Given the description of an element on the screen output the (x, y) to click on. 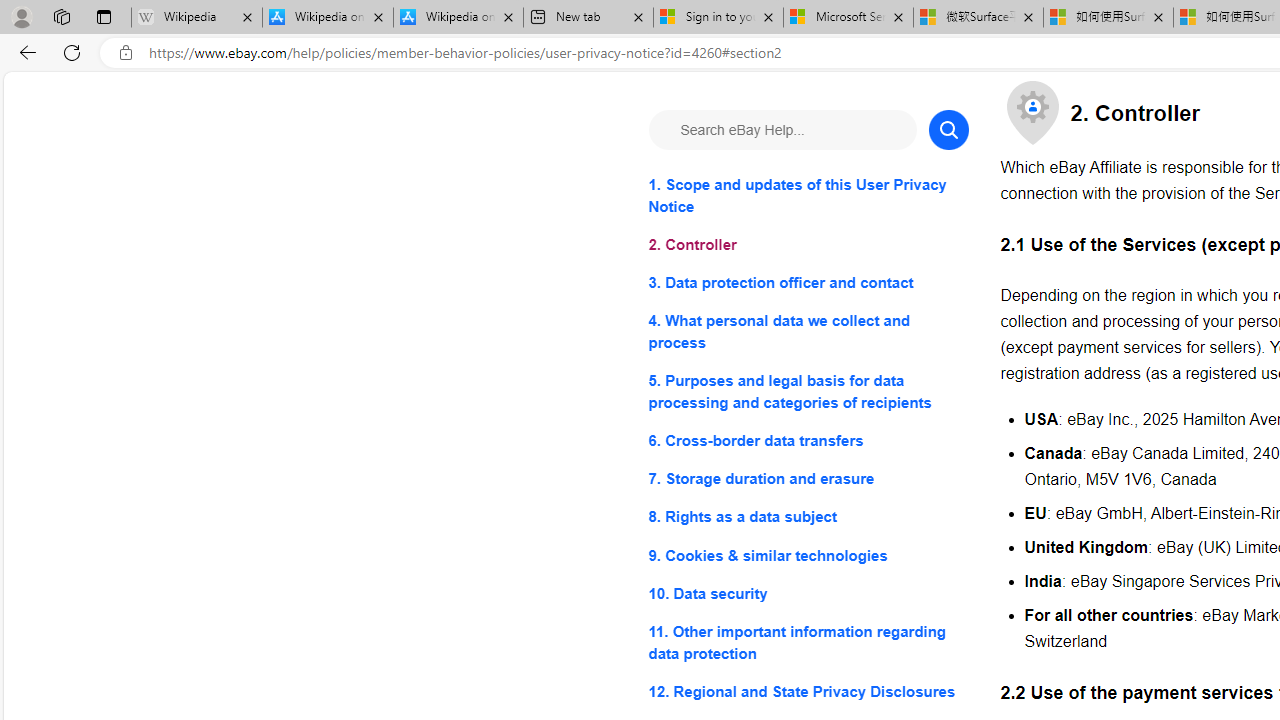
7. Storage duration and erasure (807, 479)
6. Cross-border data transfers (807, 440)
3. Data protection officer and contact (807, 283)
1. Scope and updates of this User Privacy Notice (807, 196)
6. Cross-border data transfers (807, 440)
10. Data security (807, 592)
4. What personal data we collect and process (807, 332)
8. Rights as a data subject (807, 517)
